Given the description of an element on the screen output the (x, y) to click on. 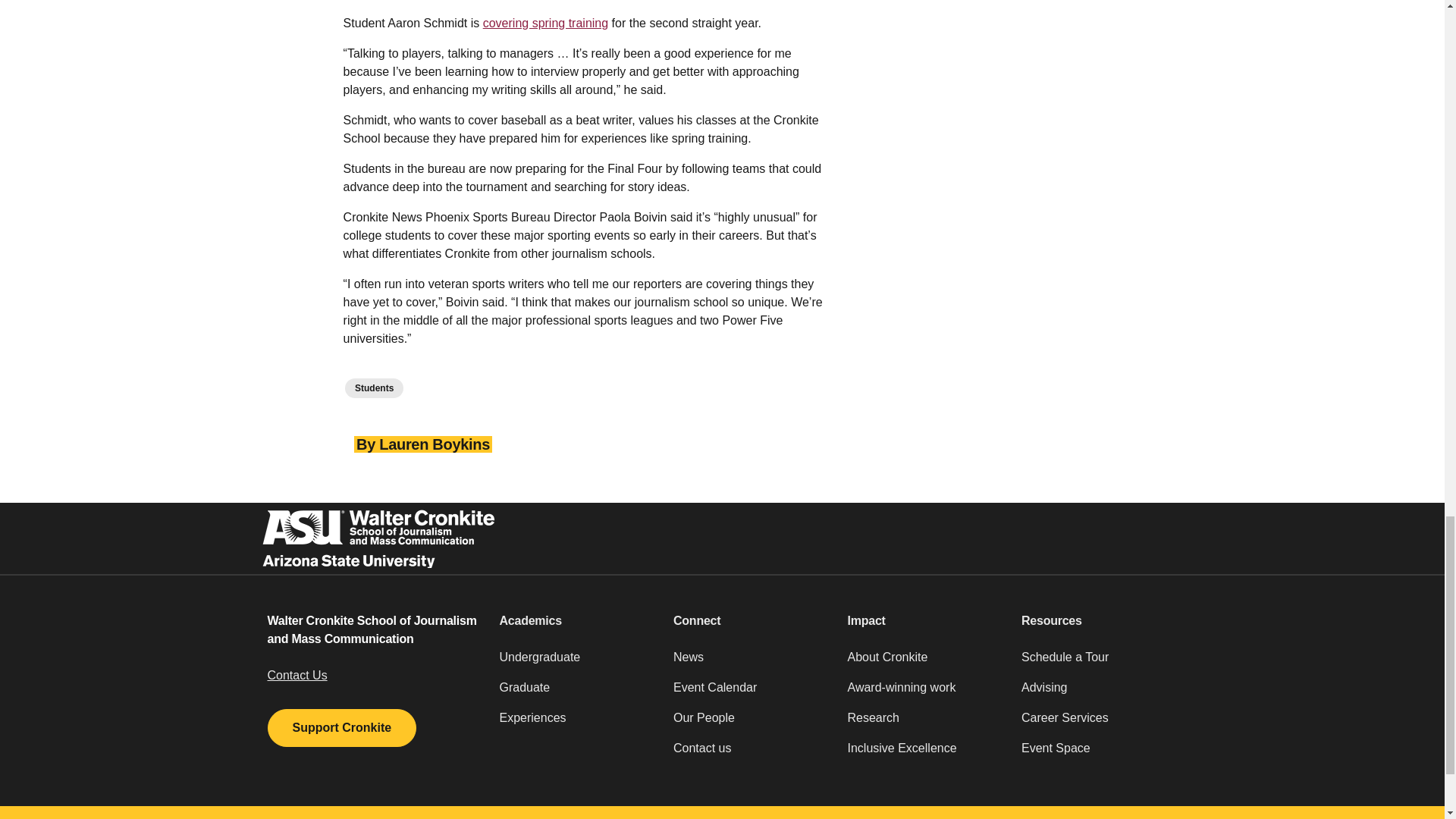
Schedule a Tour (1099, 663)
Schedule a Tour (1099, 663)
News (750, 663)
Experiences (577, 724)
Event Calendar (750, 693)
Inclusive Excellence (925, 754)
Award-winning work (925, 693)
Event Space (1099, 754)
Graduate (577, 693)
Research (925, 724)
